Given the description of an element on the screen output the (x, y) to click on. 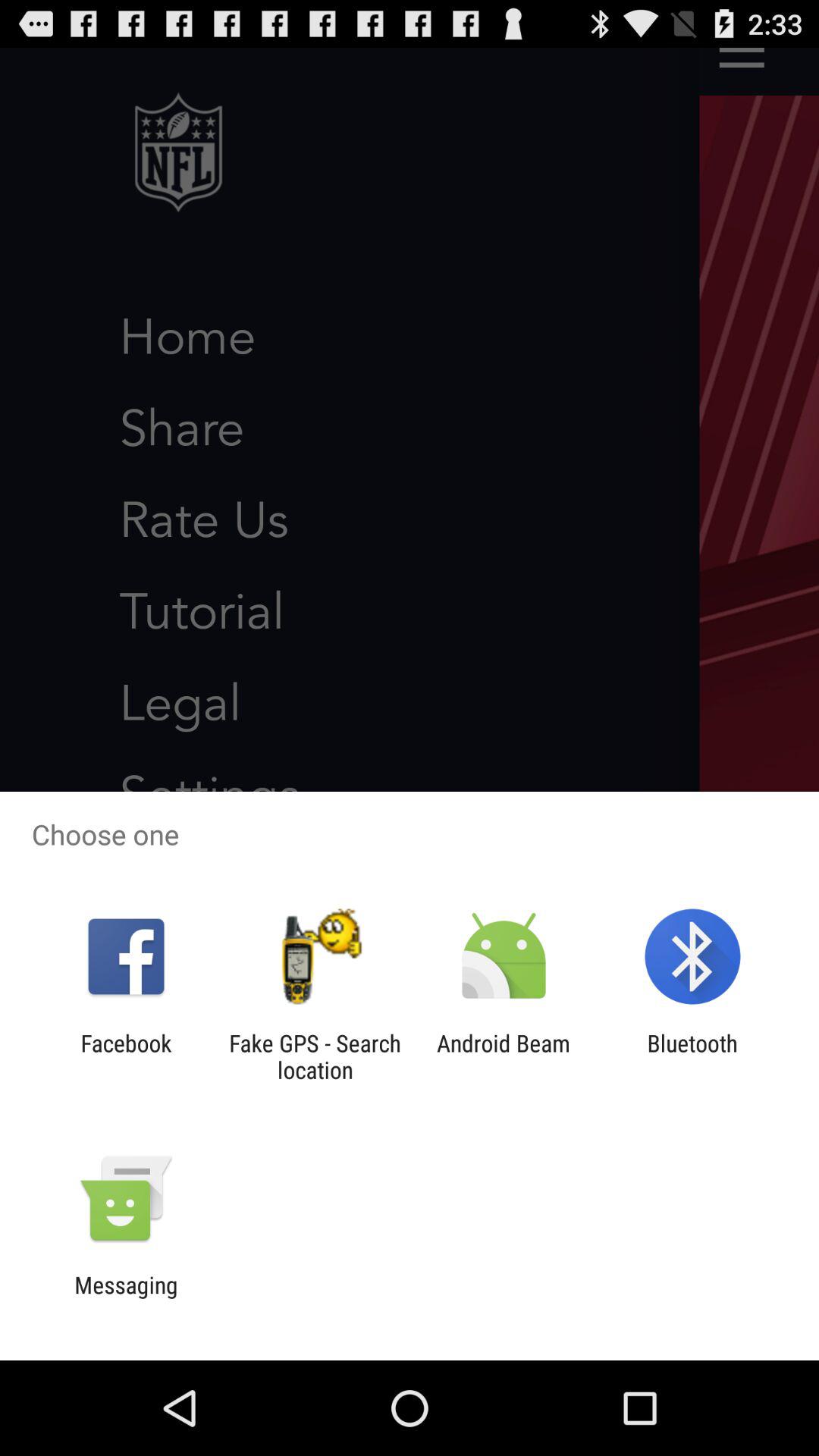
launch the icon to the right of facebook item (314, 1056)
